Given the description of an element on the screen output the (x, y) to click on. 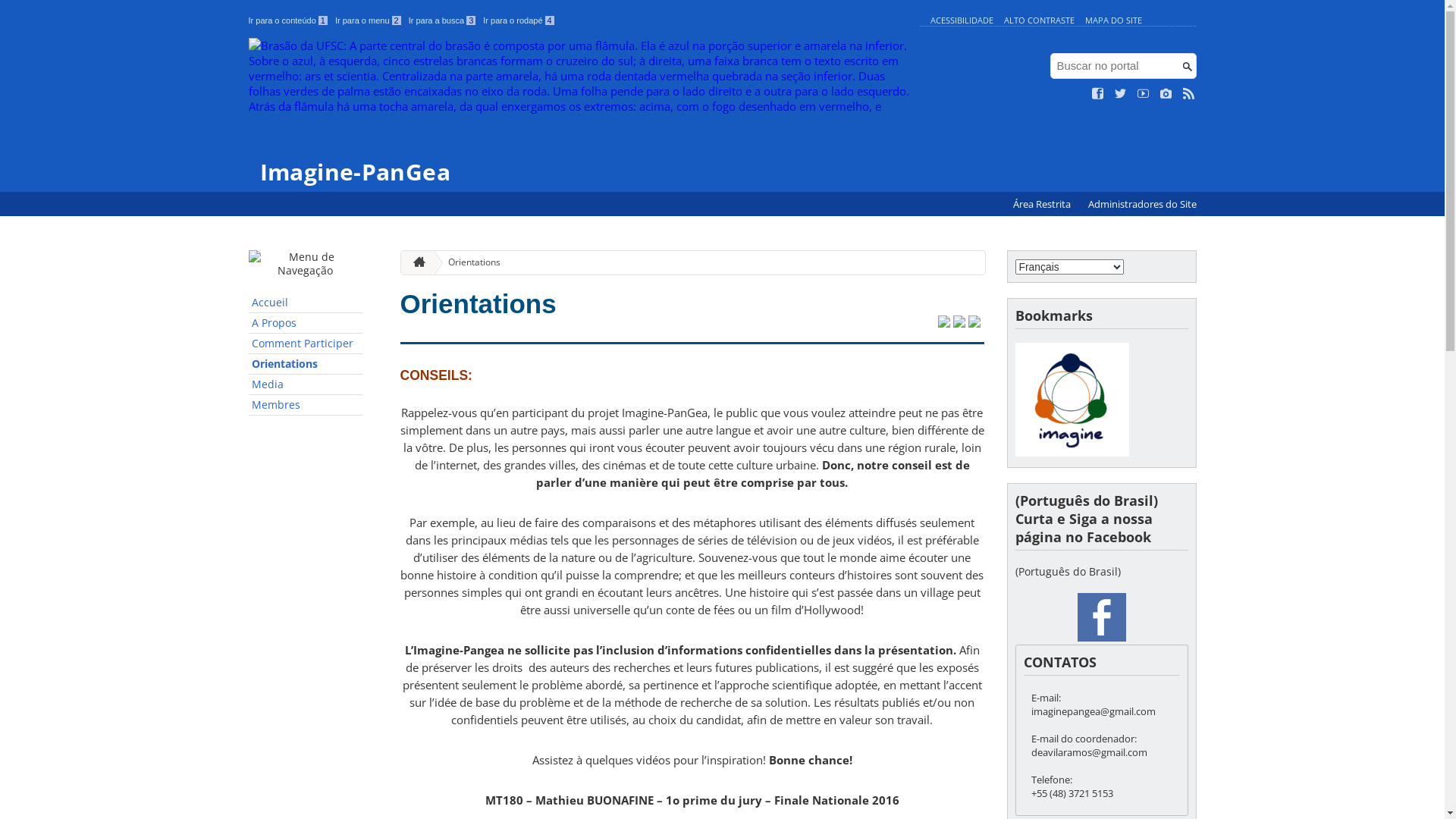
ALTO CONTRASTE Element type: text (1039, 19)
Compartilhar no Twitter Element type: hover (943, 322)
Siga no Twitter Element type: hover (1120, 93)
Media Element type: text (305, 384)
Curta no Facebook Element type: hover (1098, 93)
Imagine-PanGea Element type: text (580, 110)
Compartilhar no WhatsApp Element type: hover (973, 322)
Orientations Element type: text (478, 303)
Facebook Element type: hover (1100, 617)
Accueil Element type: text (305, 302)
Compartilhar no Facebook Element type: hover (958, 322)
Administradores do Site Element type: text (1141, 203)
Orientations Element type: text (467, 262)
Ir para a busca 3 Element type: text (442, 20)
Comment Participer Element type: text (305, 343)
ACESSIBILIDADE Element type: text (960, 19)
Ir para o menu 2 Element type: text (368, 20)
Veja no Instagram Element type: hover (1166, 93)
Orientations Element type: text (305, 364)
A Propos Element type: text (305, 323)
MAPA DO SITE Element type: text (1112, 19)
Membres Element type: text (305, 405)
